Given the description of an element on the screen output the (x, y) to click on. 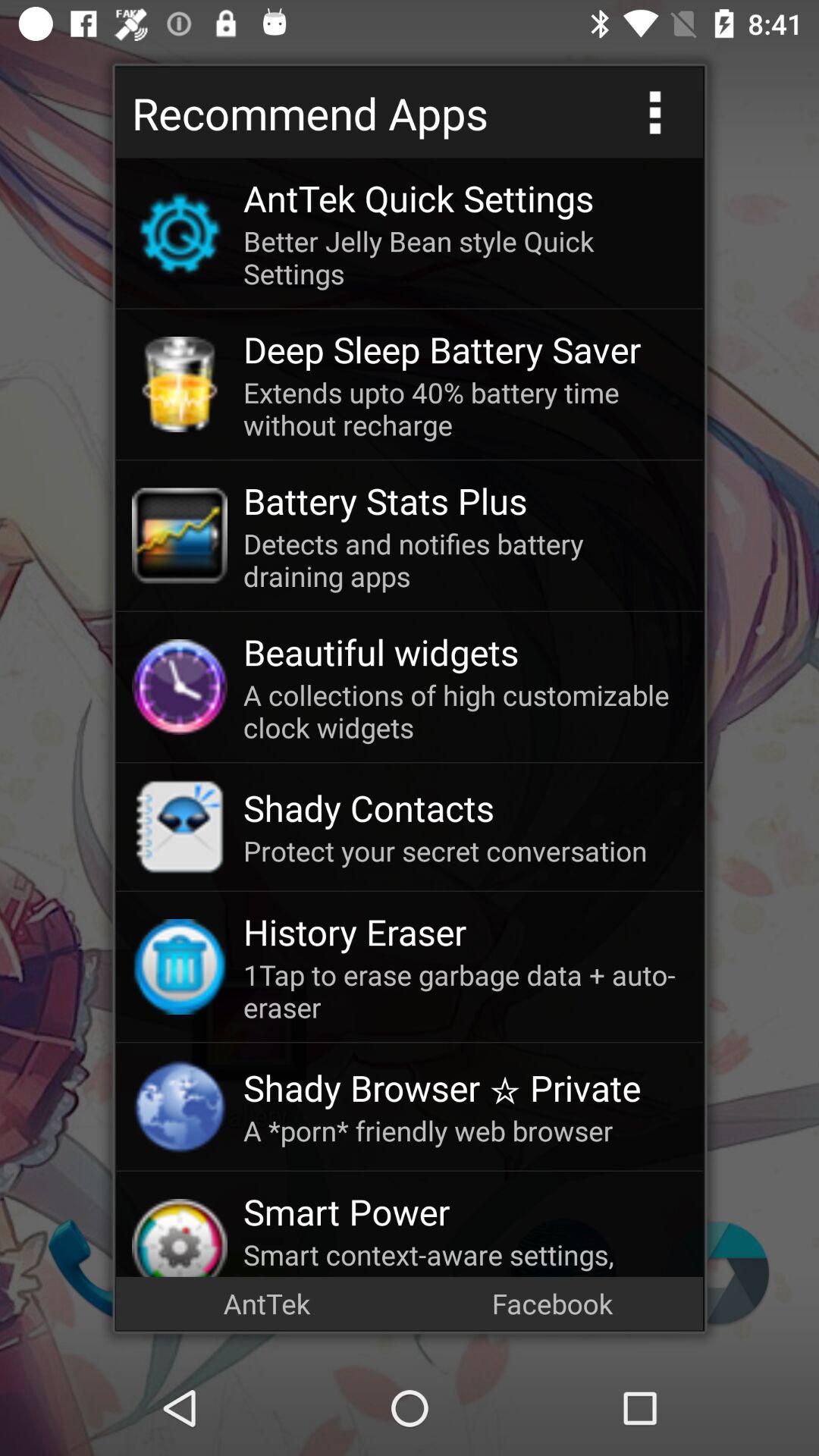
press the extends upto 40 app (465, 408)
